Given the description of an element on the screen output the (x, y) to click on. 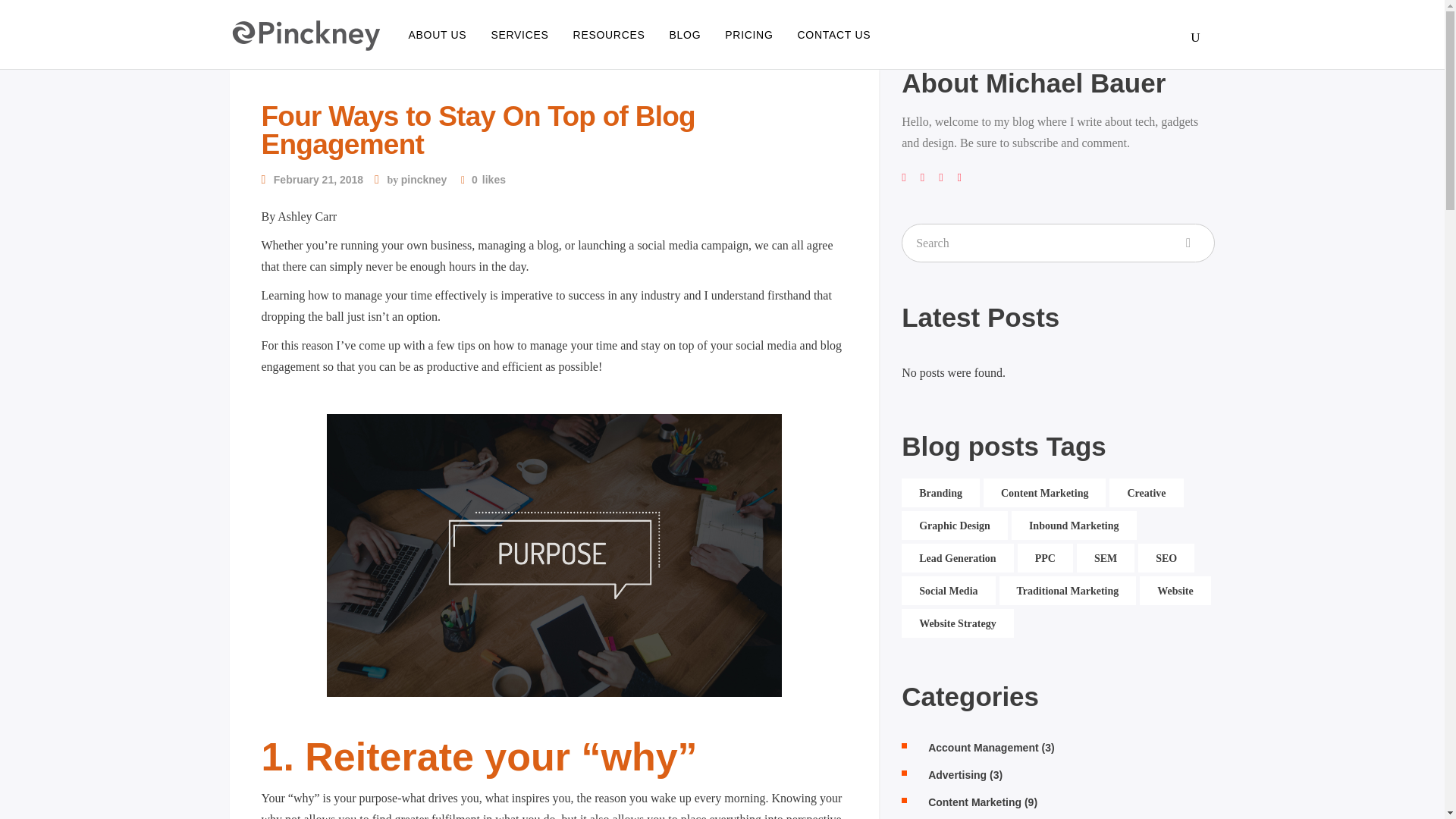
RESOURCES (609, 34)
CONTACT US (834, 34)
Like this (483, 179)
PRICING (748, 34)
SERVICES (519, 34)
ABOUT US (437, 34)
